Given the description of an element on the screen output the (x, y) to click on. 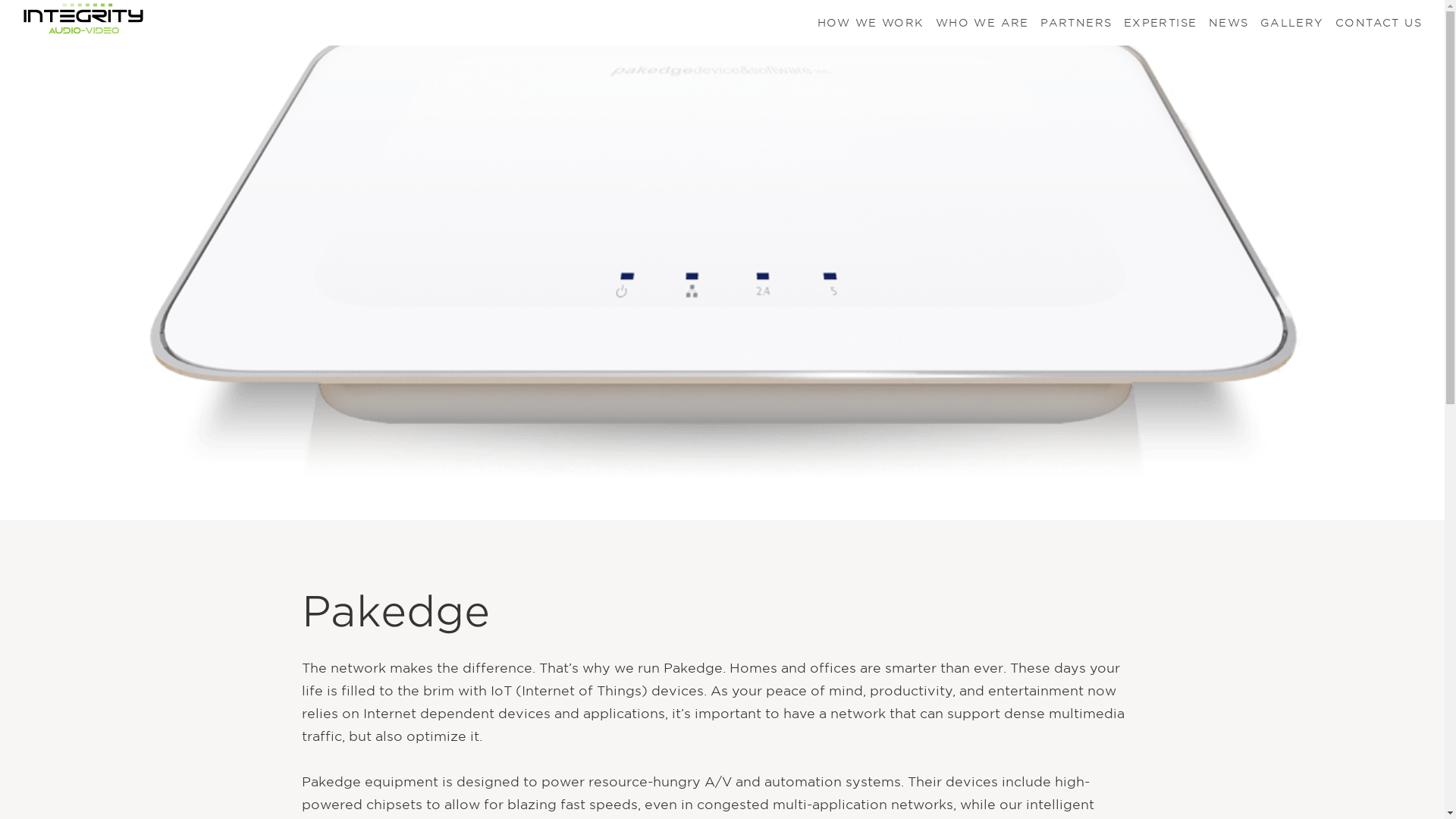
WHO WE ARE (982, 22)
EXPERTISE (1160, 22)
PARTNERS (1076, 22)
HOW WE WORK (869, 22)
menu (1160, 22)
CONTACT US (1378, 22)
GALLERY (1291, 22)
Request More Information (413, 693)
